Given the description of an element on the screen output the (x, y) to click on. 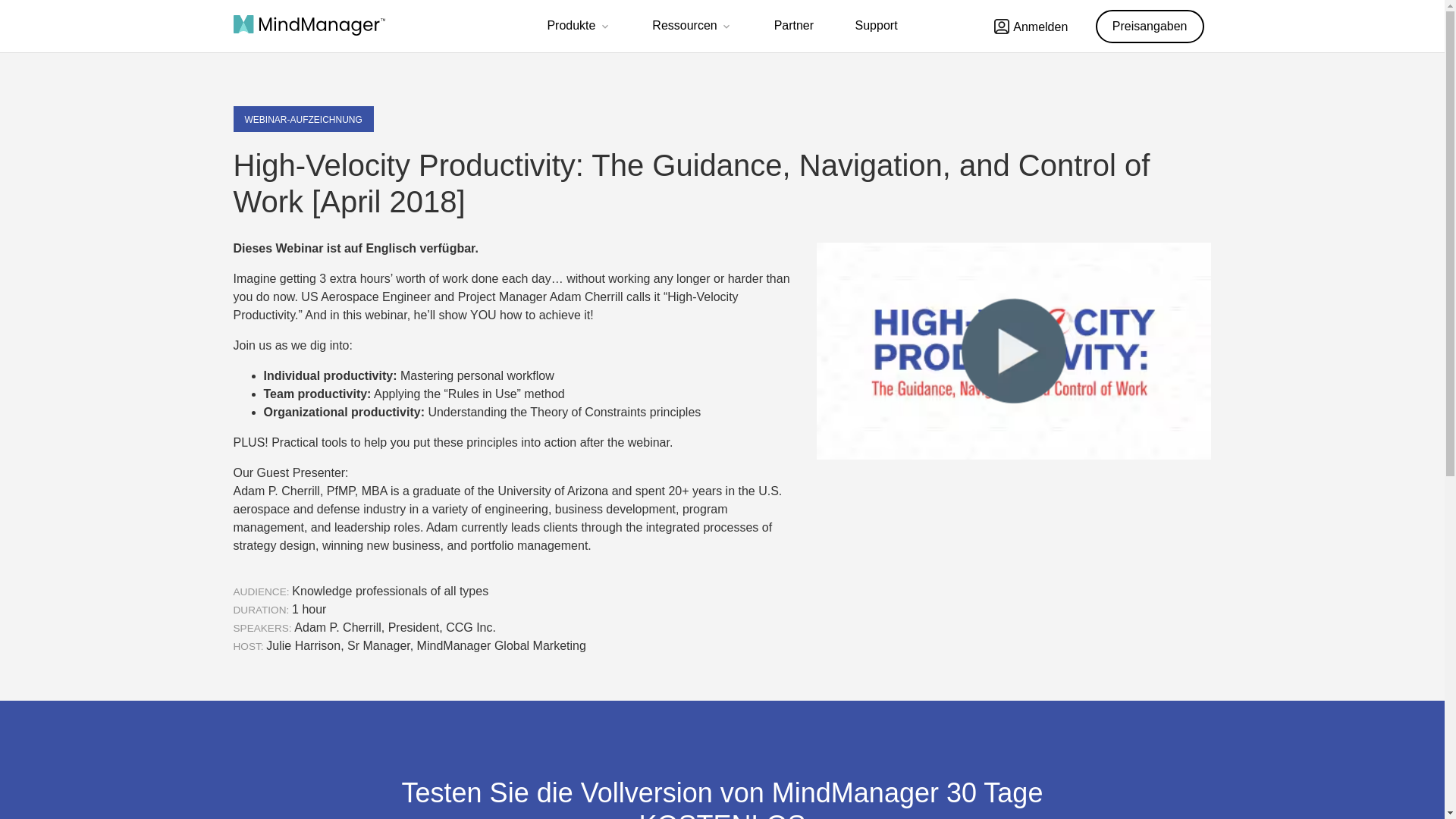
Preisangaben (1150, 26)
Anmelden (1030, 26)
MindManager (308, 25)
Support (876, 25)
Ressourcen (692, 27)
Produkte (578, 27)
Partner (793, 25)
